Given the description of an element on the screen output the (x, y) to click on. 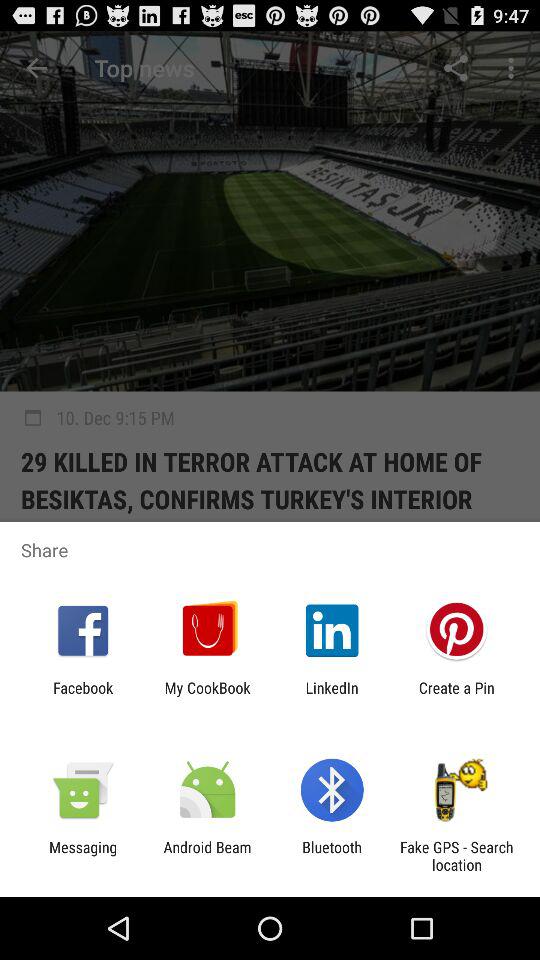
swipe to the bluetooth (331, 856)
